Given the description of an element on the screen output the (x, y) to click on. 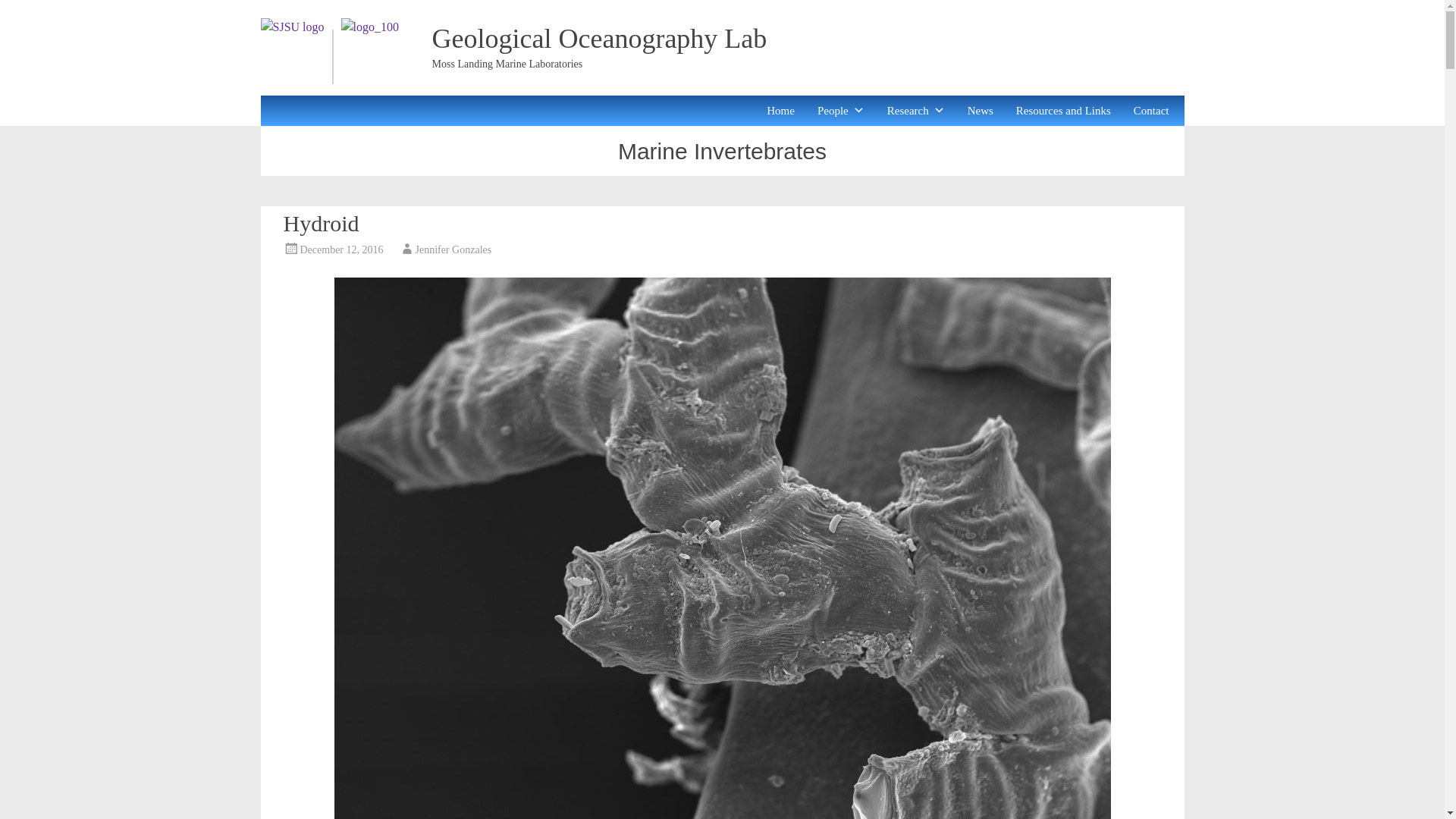
December 12, 2016 (341, 249)
Home (780, 110)
News (980, 110)
Resources and Links (1063, 110)
Hydroid (321, 222)
Research (915, 110)
People (840, 110)
Contact (1150, 110)
